Given the description of an element on the screen output the (x, y) to click on. 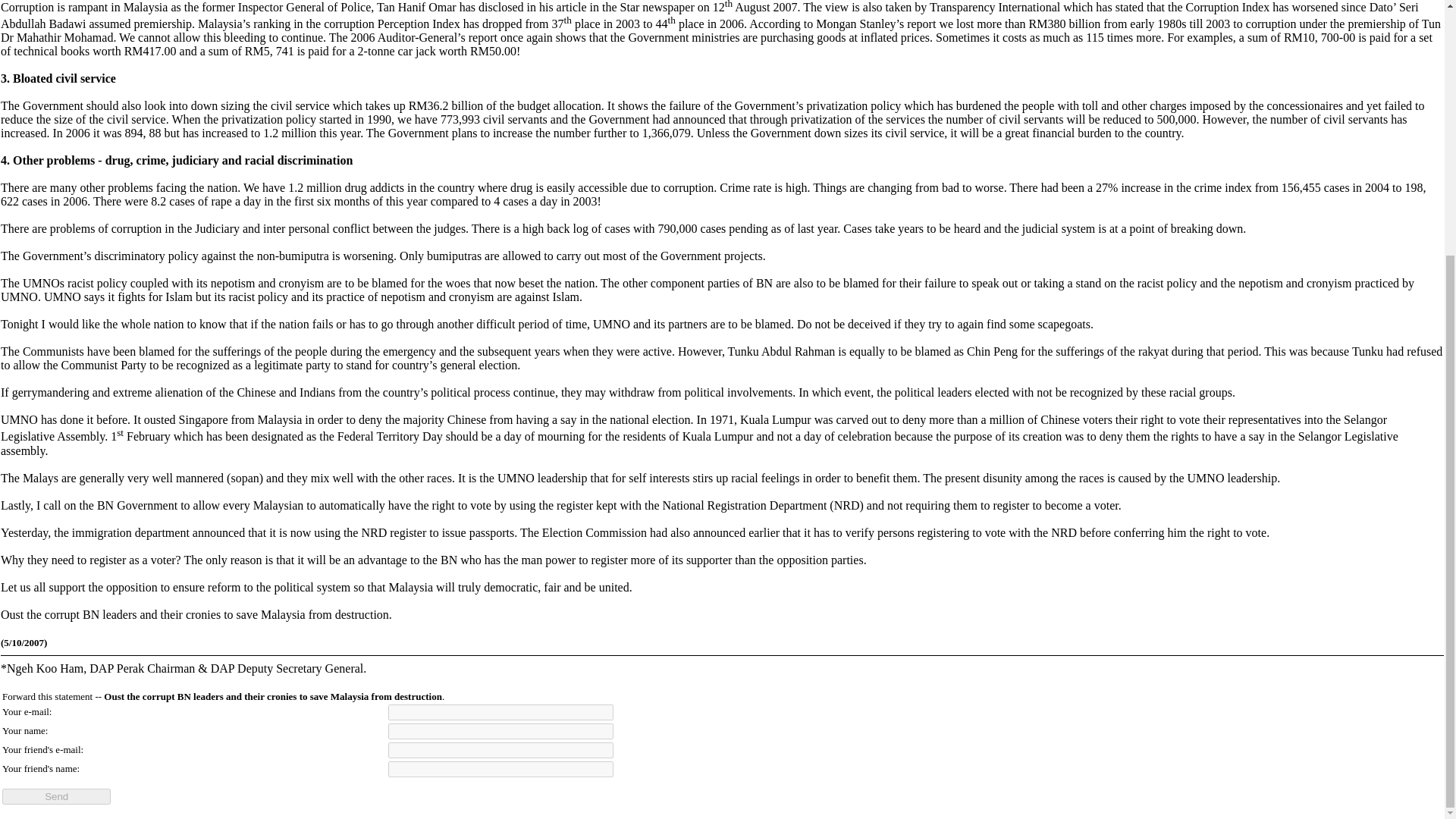
             Send              (56, 796)
             Send              (56, 796)
